Given the description of an element on the screen output the (x, y) to click on. 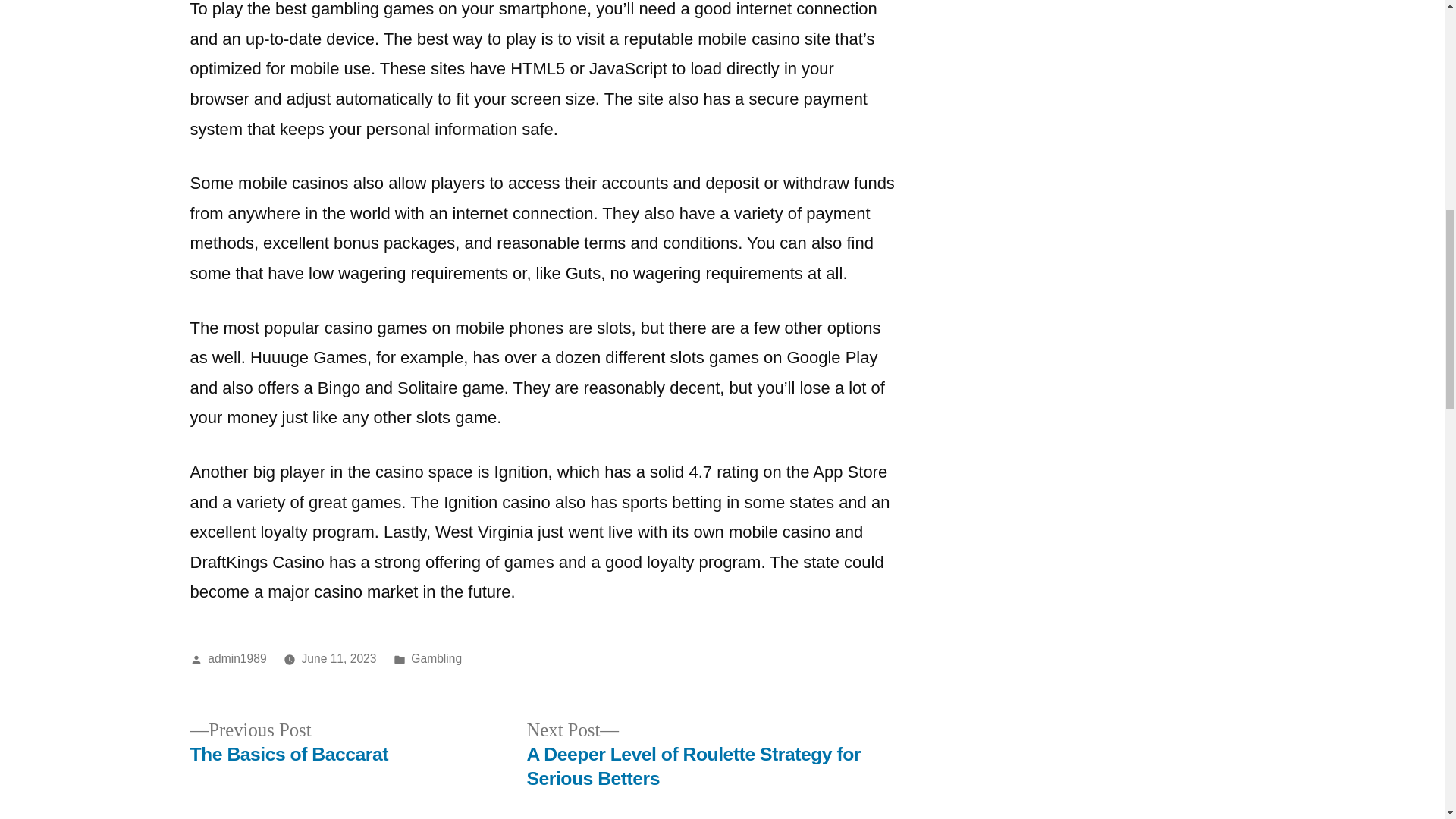
June 11, 2023 (288, 742)
Gambling (338, 658)
admin1989 (435, 658)
